Given the description of an element on the screen output the (x, y) to click on. 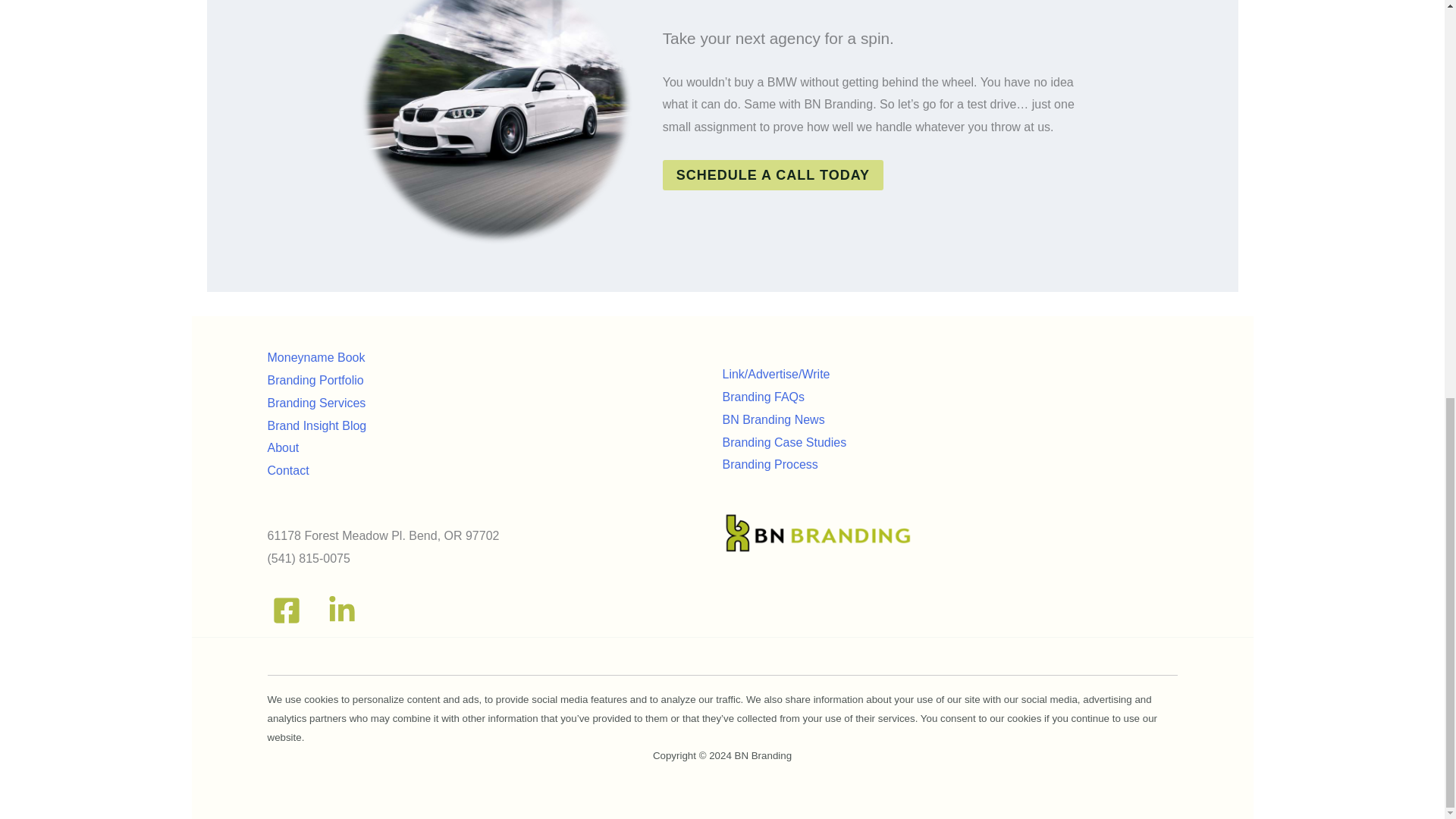
Moneyname Book (315, 357)
Brand Insight Blog (316, 425)
Branding Services (315, 402)
Branding Portfolio (314, 379)
SCHEDULE A CALL TODAY (772, 174)
